Given the description of an element on the screen output the (x, y) to click on. 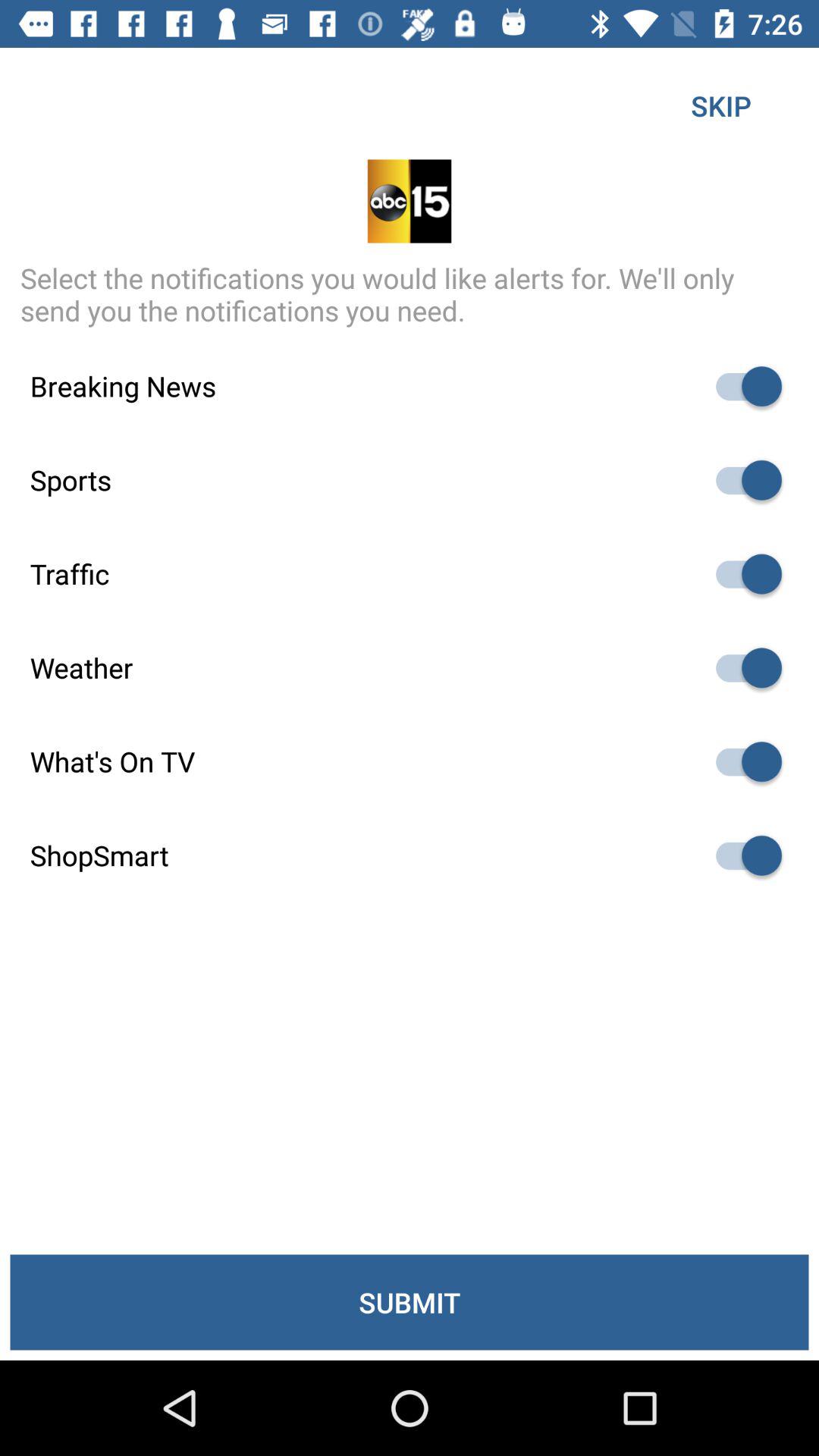
weather (741, 667)
